Given the description of an element on the screen output the (x, y) to click on. 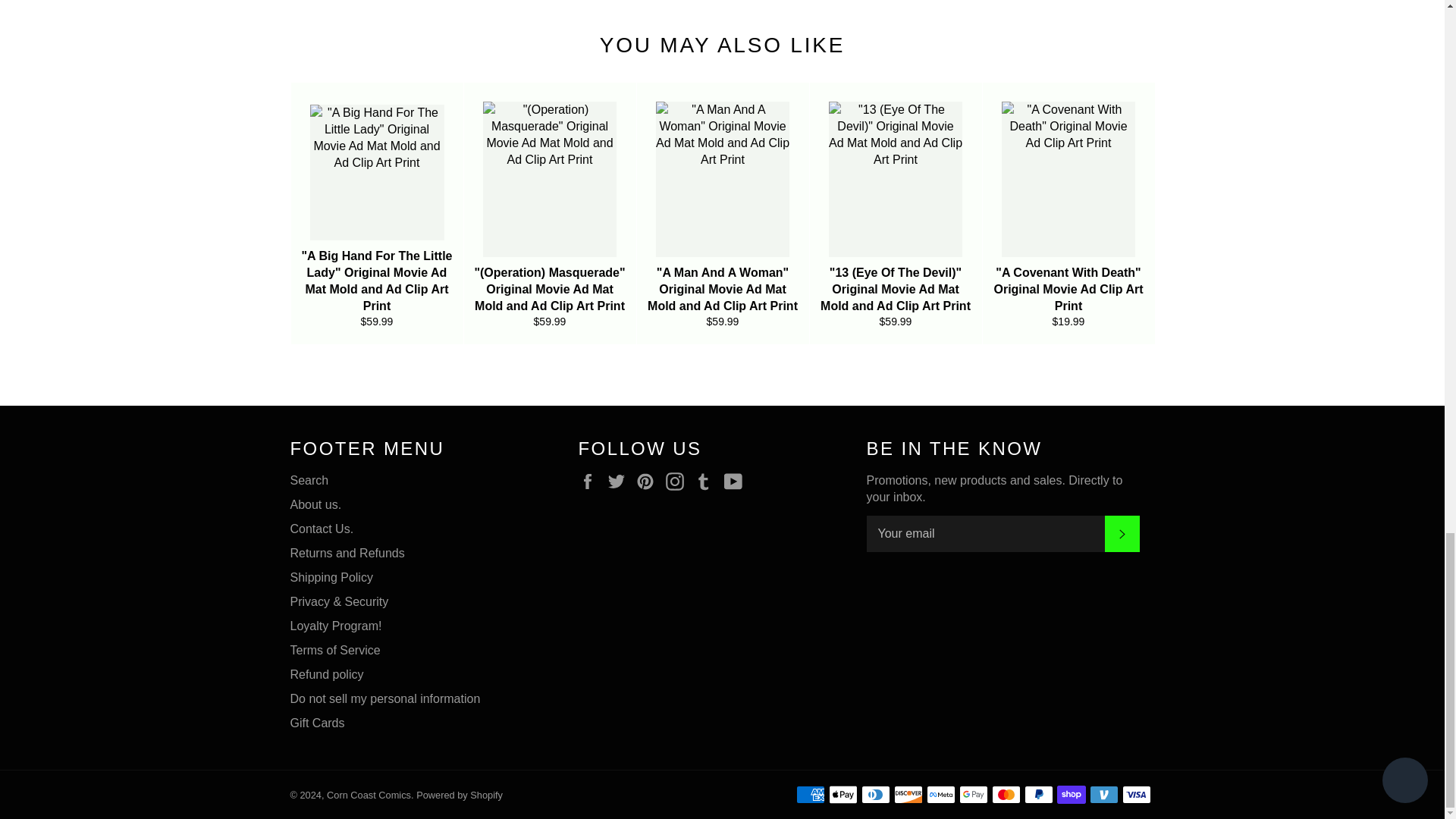
Corn Coast Comics on Instagram (678, 481)
Corn Coast Comics on YouTube (736, 481)
Corn Coast Comics on Twitter (620, 481)
Corn Coast Comics on Facebook (591, 481)
Corn Coast Comics on Pinterest (649, 481)
Corn Coast Comics on Tumblr (707, 481)
